Given the description of an element on the screen output the (x, y) to click on. 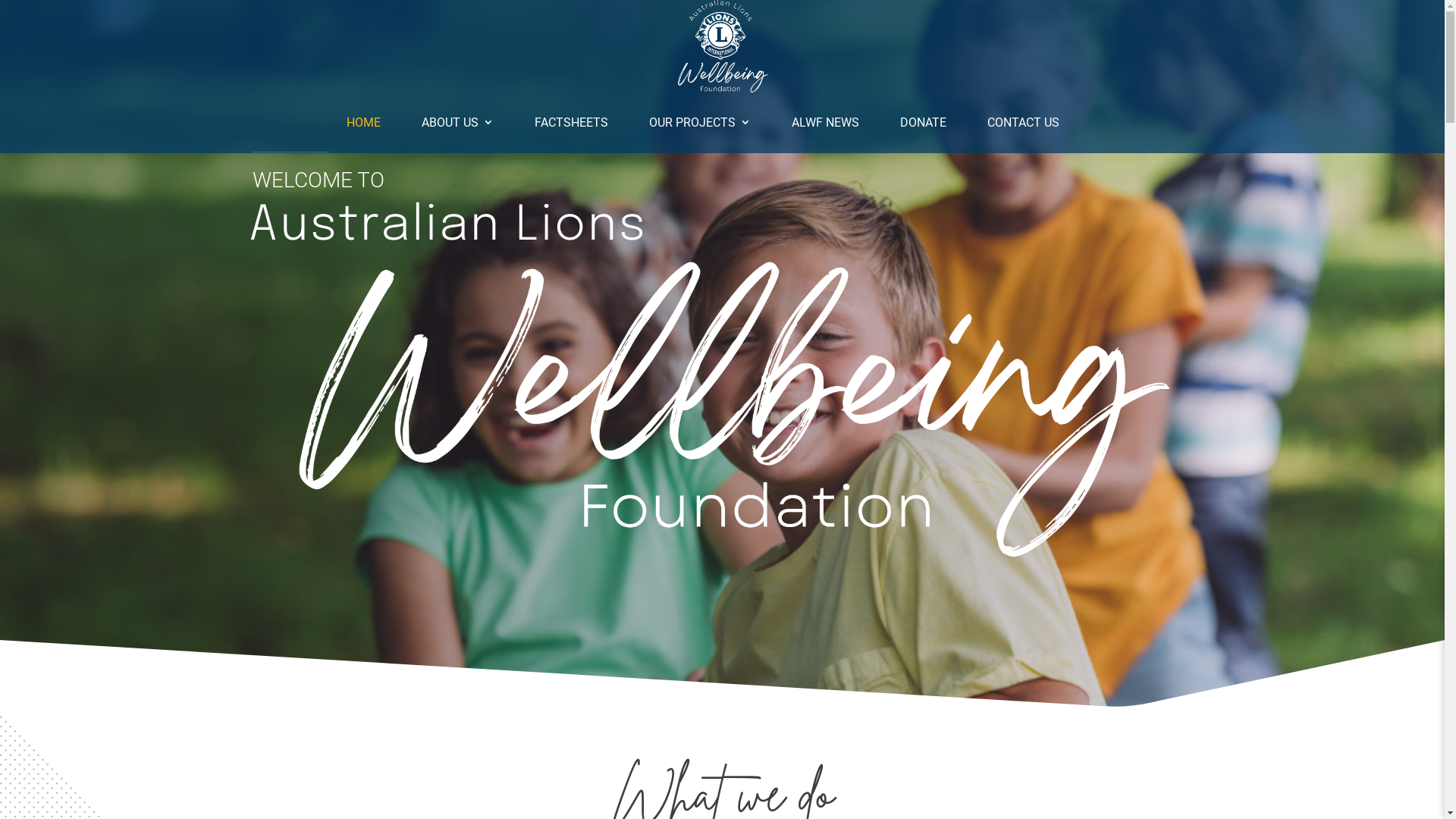
ALWF NEWS Element type: text (825, 122)
CONTACT US Element type: text (1023, 122)
FACTSHEETS Element type: text (570, 122)
OUR PROJECTS Element type: text (699, 122)
DONATE Element type: text (922, 122)
HOME Element type: text (362, 122)
Wellbeing_With_Foundation_ALWF_RBG-05 Element type: hover (721, 410)
ABOUT US Element type: text (457, 122)
